Given the description of an element on the screen output the (x, y) to click on. 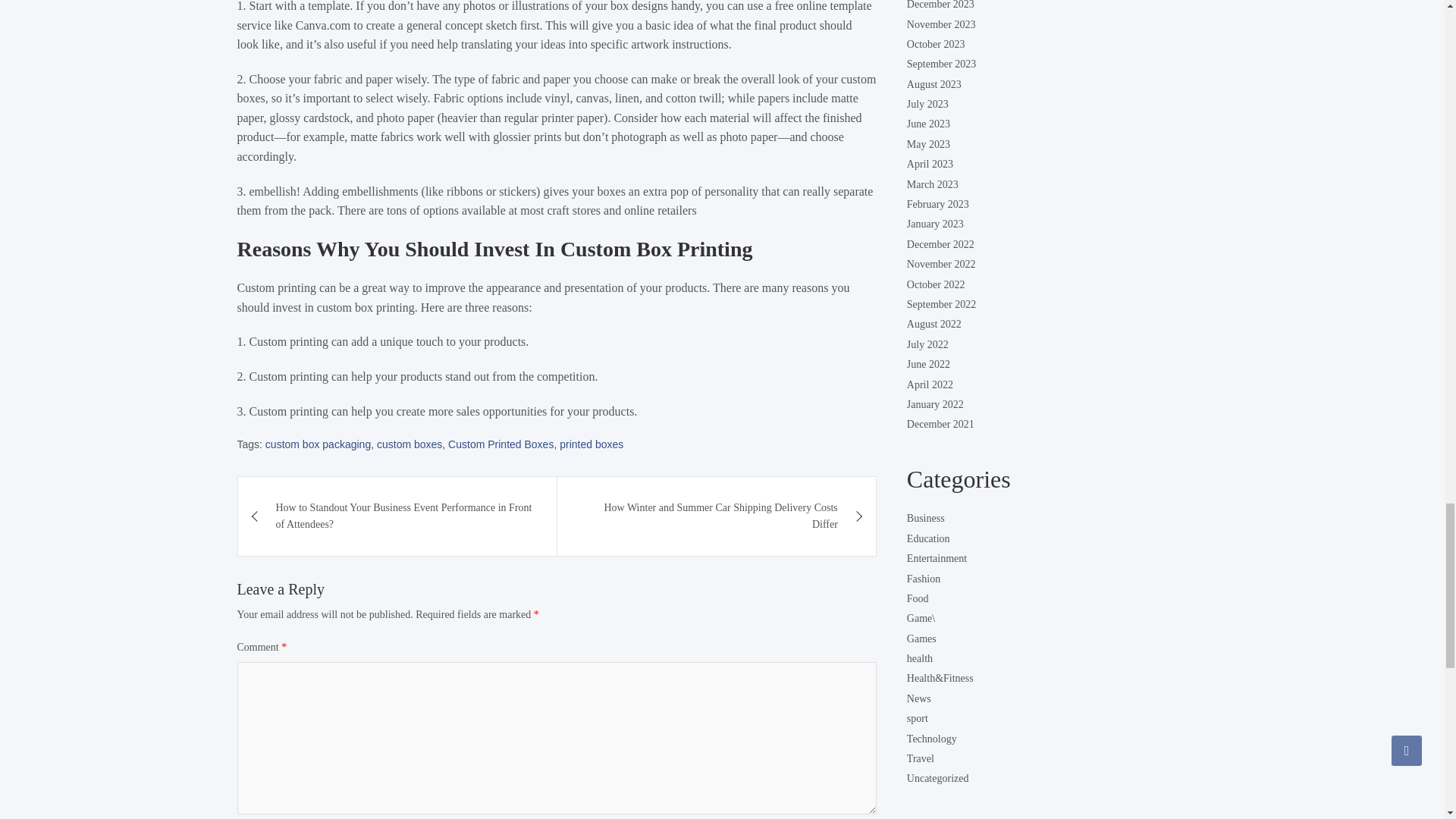
custom boxes (409, 443)
custom box packaging (317, 443)
How Winter and Summer Car Shipping Delivery Costs Differ (716, 516)
Custom Printed Boxes (500, 443)
printed boxes (591, 443)
